Given the description of an element on the screen output the (x, y) to click on. 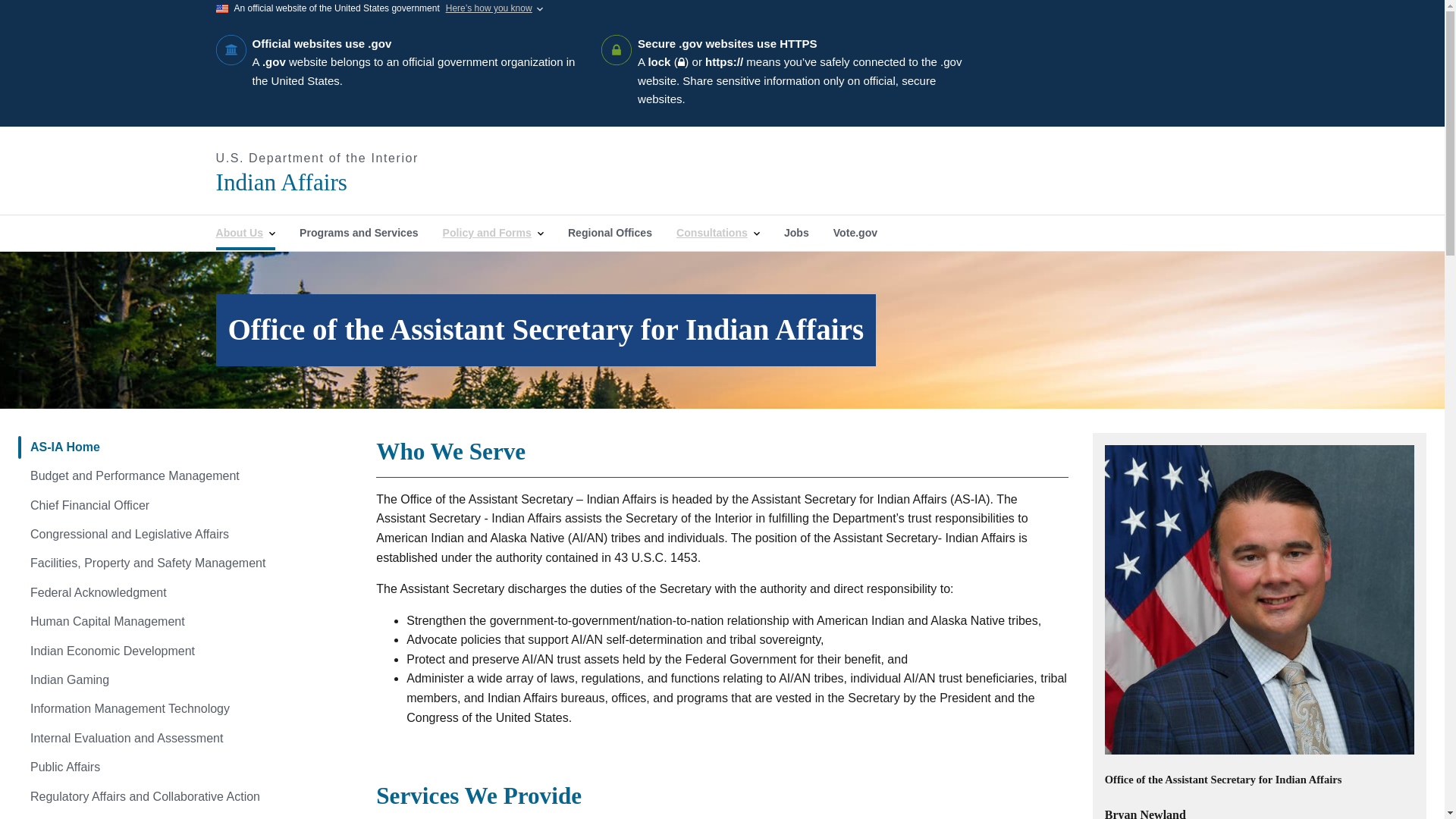
Chief Financial Officer (184, 505)
Consultations (717, 232)
Vote.gov (855, 232)
Public Affairs (184, 767)
About Us (244, 232)
Policy and Forms (493, 232)
Congressional and Legislative Affairs (184, 534)
Self Governance (184, 815)
Indian Affairs (382, 182)
